Given the description of an element on the screen output the (x, y) to click on. 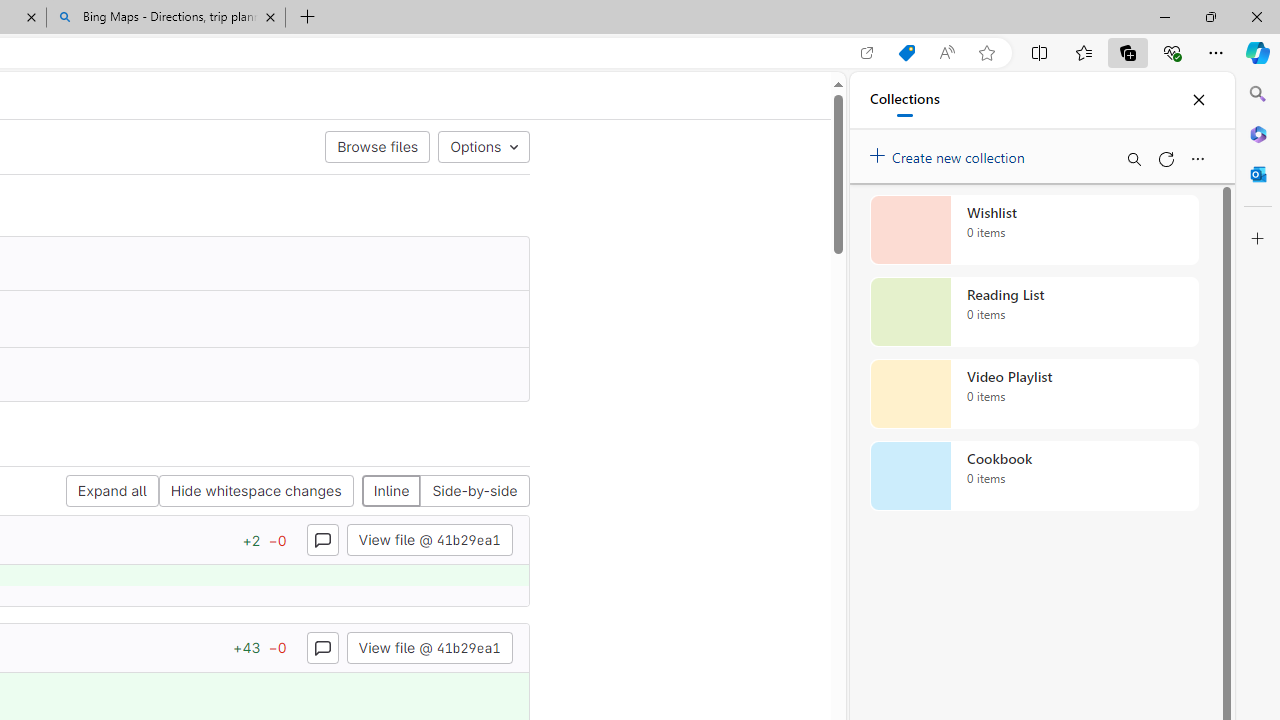
Hide whitespace changes (255, 491)
Browse files (378, 146)
Class: s16 gl-icon gl-button-icon  (322, 647)
Open in app (867, 53)
Reading List collection, 0 items (1034, 312)
More options menu (1197, 158)
Options (483, 146)
